Given the description of an element on the screen output the (x, y) to click on. 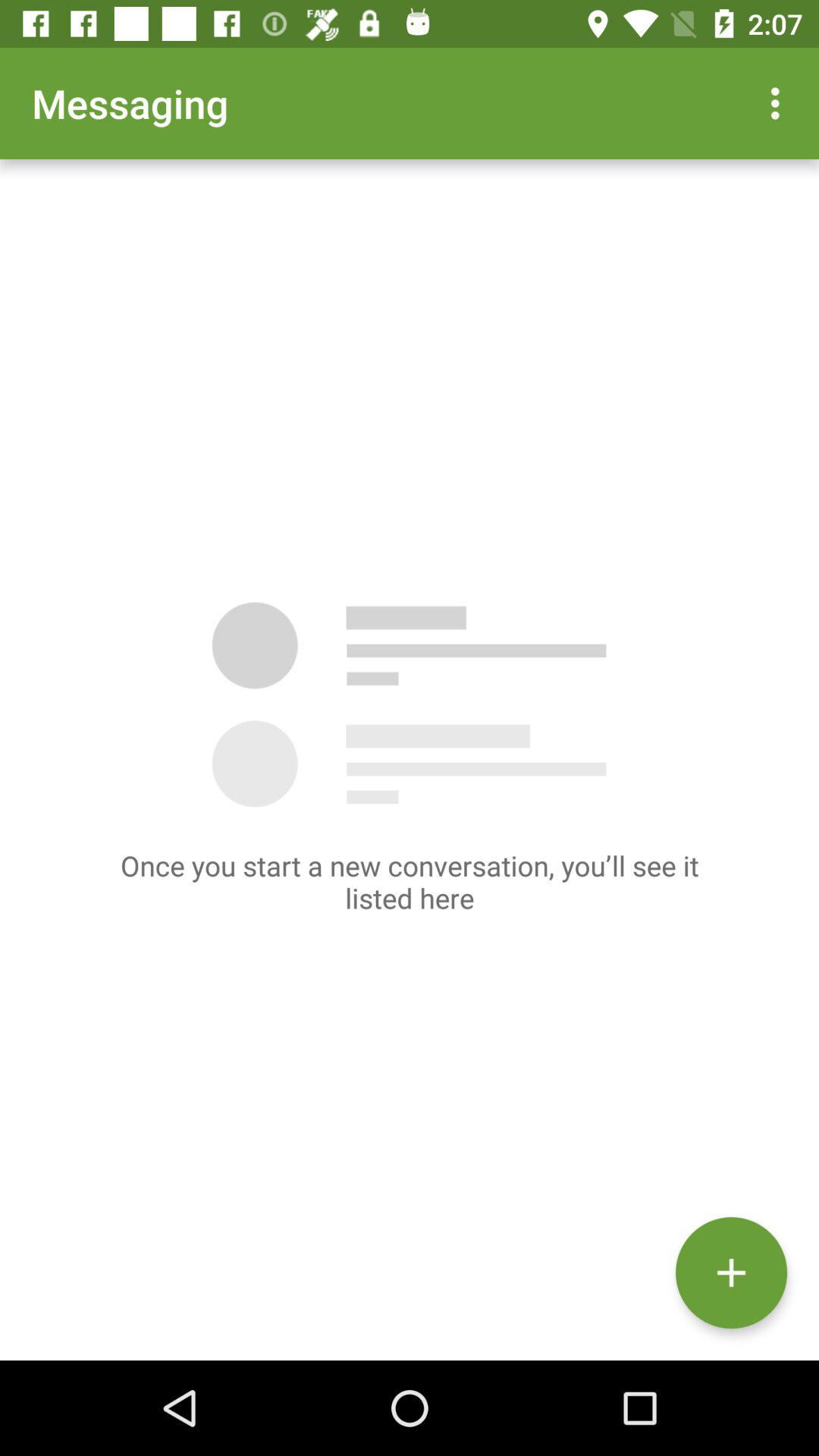
select icon at the top right corner (779, 103)
